Given the description of an element on the screen output the (x, y) to click on. 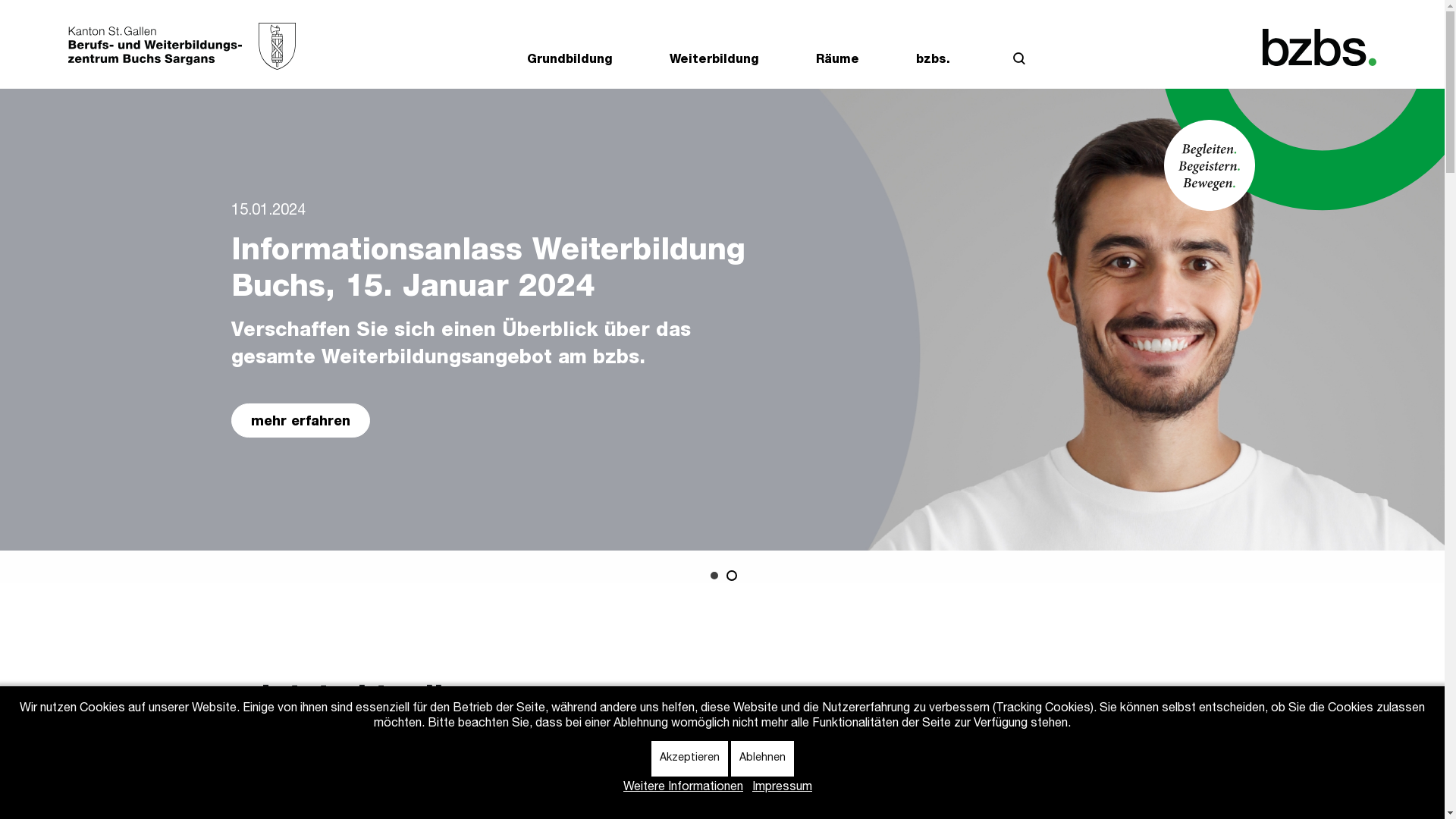
Ablehnen Element type: text (762, 758)
Weitere Informationen Element type: text (683, 787)
Impressum Element type: text (782, 787)
Grundbildung Element type: text (569, 63)
bzbs. Element type: text (932, 63)
1 Element type: text (714, 575)
2 Element type: text (730, 575)
Akzeptieren Element type: text (688, 758)
Suchen Element type: text (1018, 61)
Weiterbildung Element type: text (714, 63)
